Given the description of an element on the screen output the (x, y) to click on. 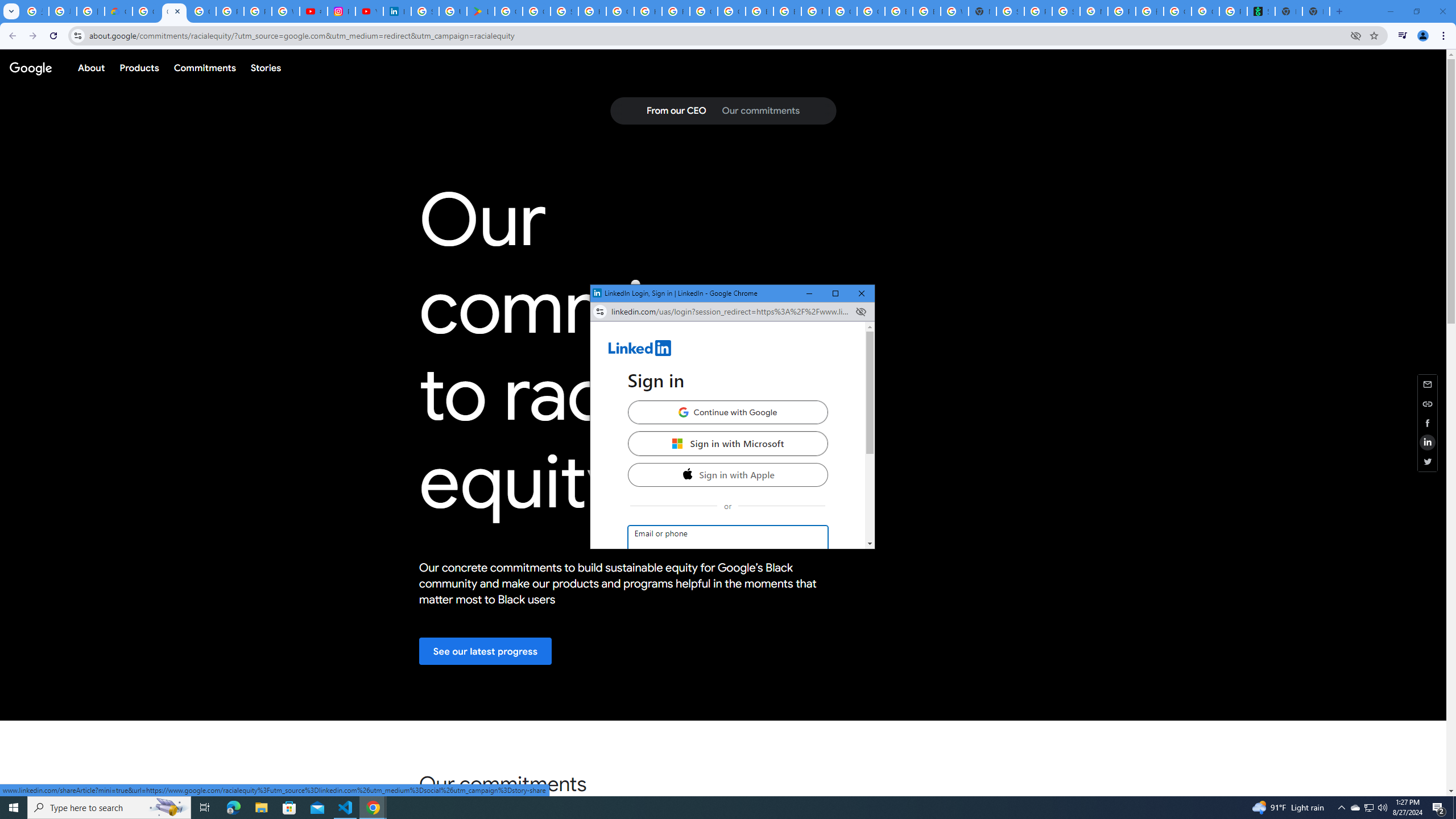
Running applications (717, 807)
Continue with Google (727, 412)
Sign in with Apple (727, 474)
Notification Chevron (1341, 807)
Microsoft Edge (233, 807)
AutomationID: linkedin-logo (639, 347)
Search highlights icon opens search home window (167, 807)
Start (1368, 807)
